Given the description of an element on the screen output the (x, y) to click on. 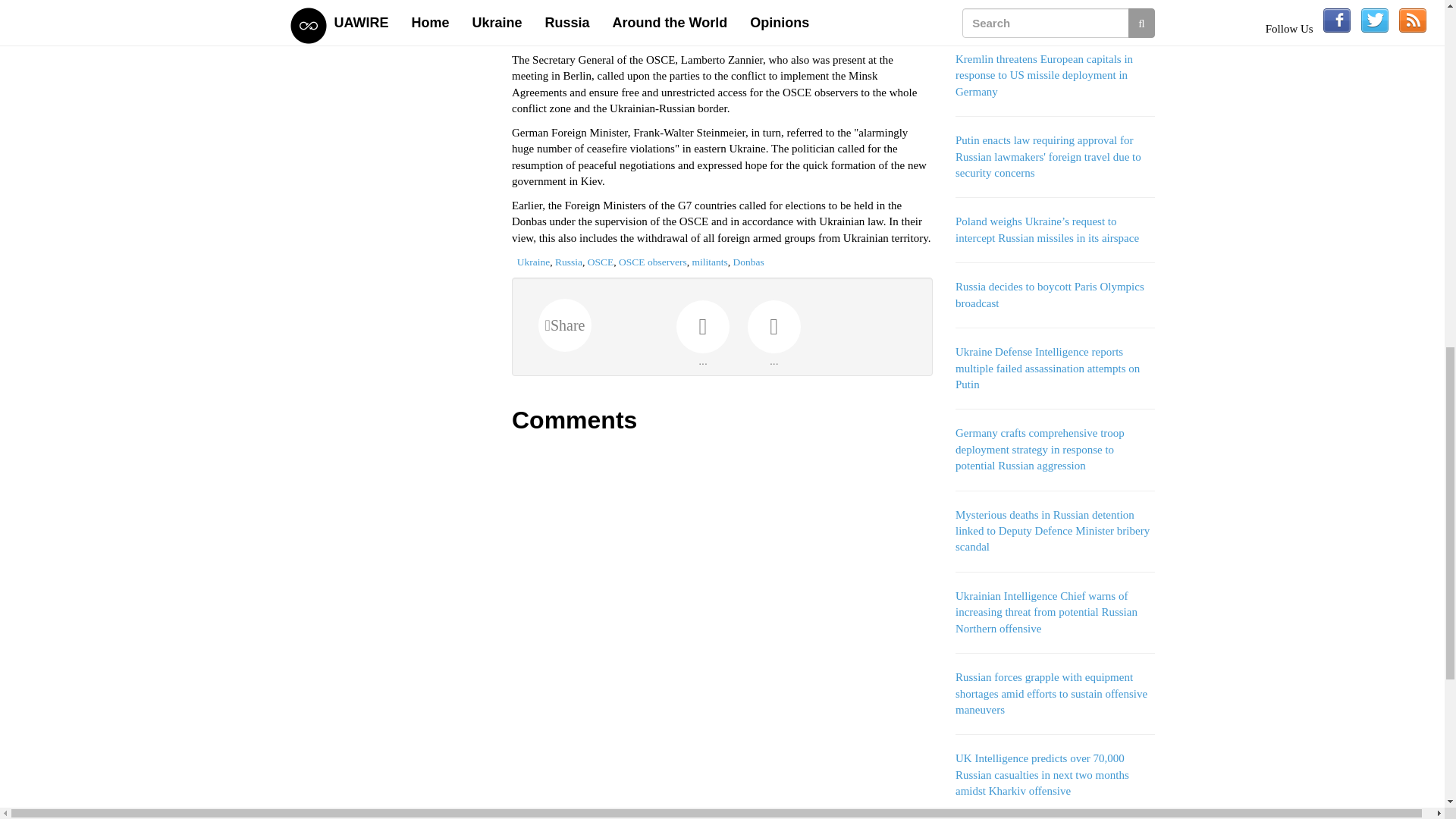
Donbas (747, 261)
Ukraine (533, 261)
OSCE observers (652, 261)
OSCE (601, 261)
Russia (568, 261)
militants (708, 261)
Russia decides to boycott Paris Olympics broadcast (1049, 294)
Advertisement (389, 198)
